Given the description of an element on the screen output the (x, y) to click on. 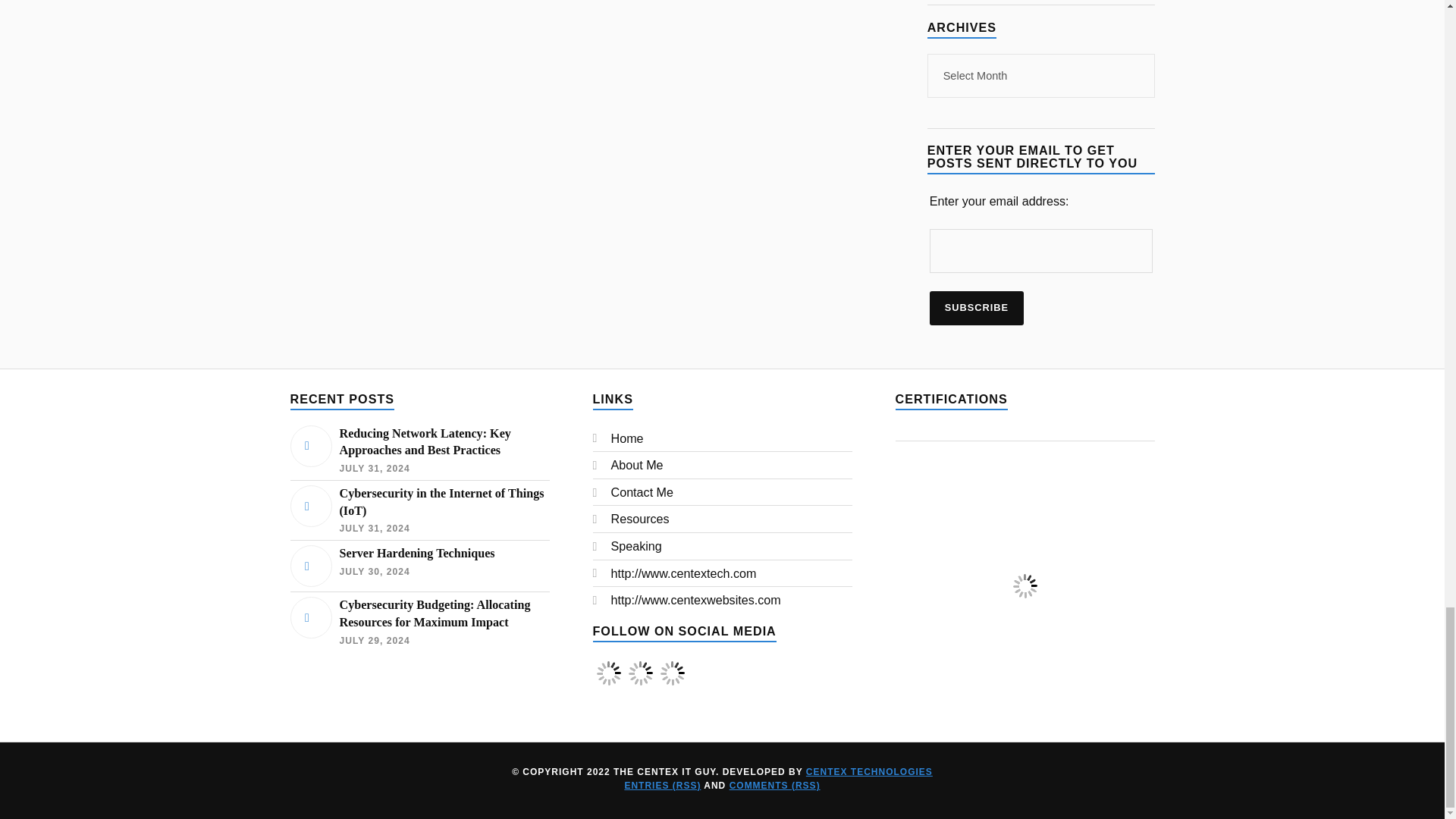
Twitter (639, 672)
LinkedIn (671, 672)
Twitter (640, 684)
Facebook (608, 684)
LinkedIn (672, 684)
Facebook (607, 672)
Subscribe (976, 308)
